Given the description of an element on the screen output the (x, y) to click on. 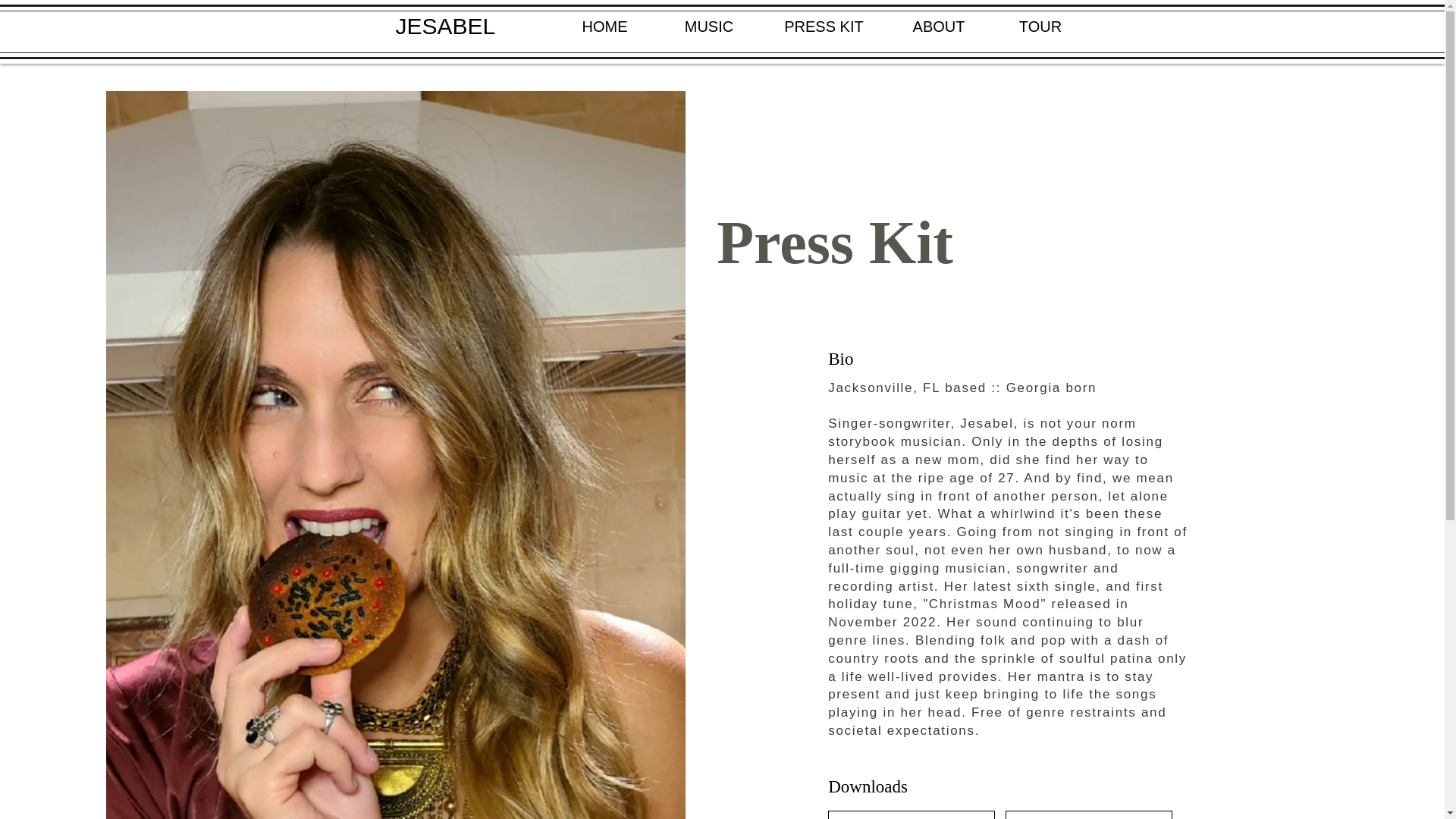
ABOUT (938, 26)
JESABEL (446, 25)
TOUR (1040, 26)
MUSIC (708, 26)
PRESS KIT (823, 26)
High-Res Photos (911, 814)
HOME (604, 26)
